Given the description of an element on the screen output the (x, y) to click on. 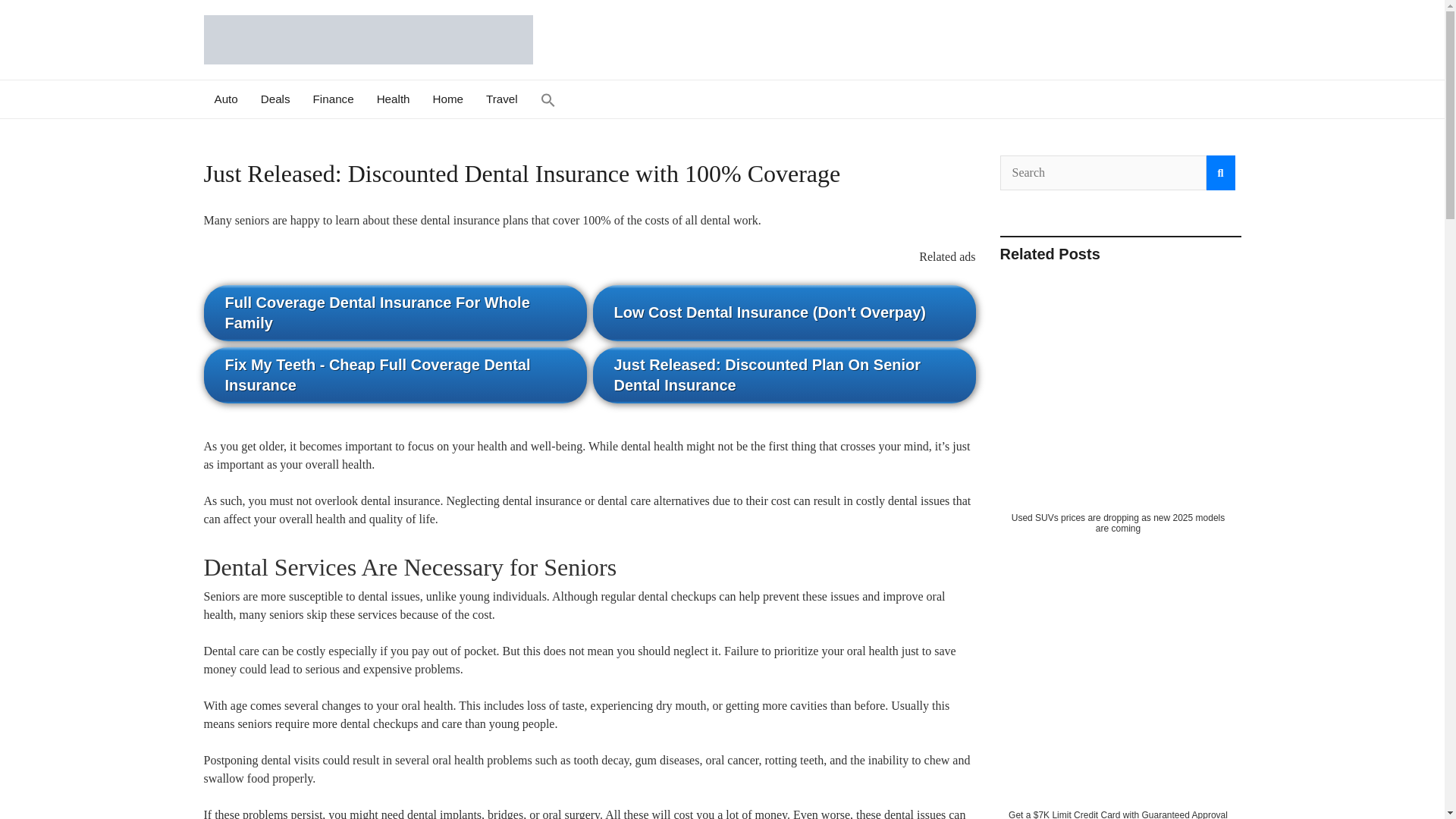
Home (449, 98)
Health (393, 98)
Checkanswers.co (357, 86)
Full Coverage Dental Insurance For Whole Family (394, 313)
Just Released: Discounted Plan On Senior Dental Insurance (783, 375)
Travel (501, 98)
Auto (225, 98)
Deals (274, 98)
Finance (333, 98)
Fix My Teeth - Cheap Full Coverage Dental Insurance (394, 375)
